Given the description of an element on the screen output the (x, y) to click on. 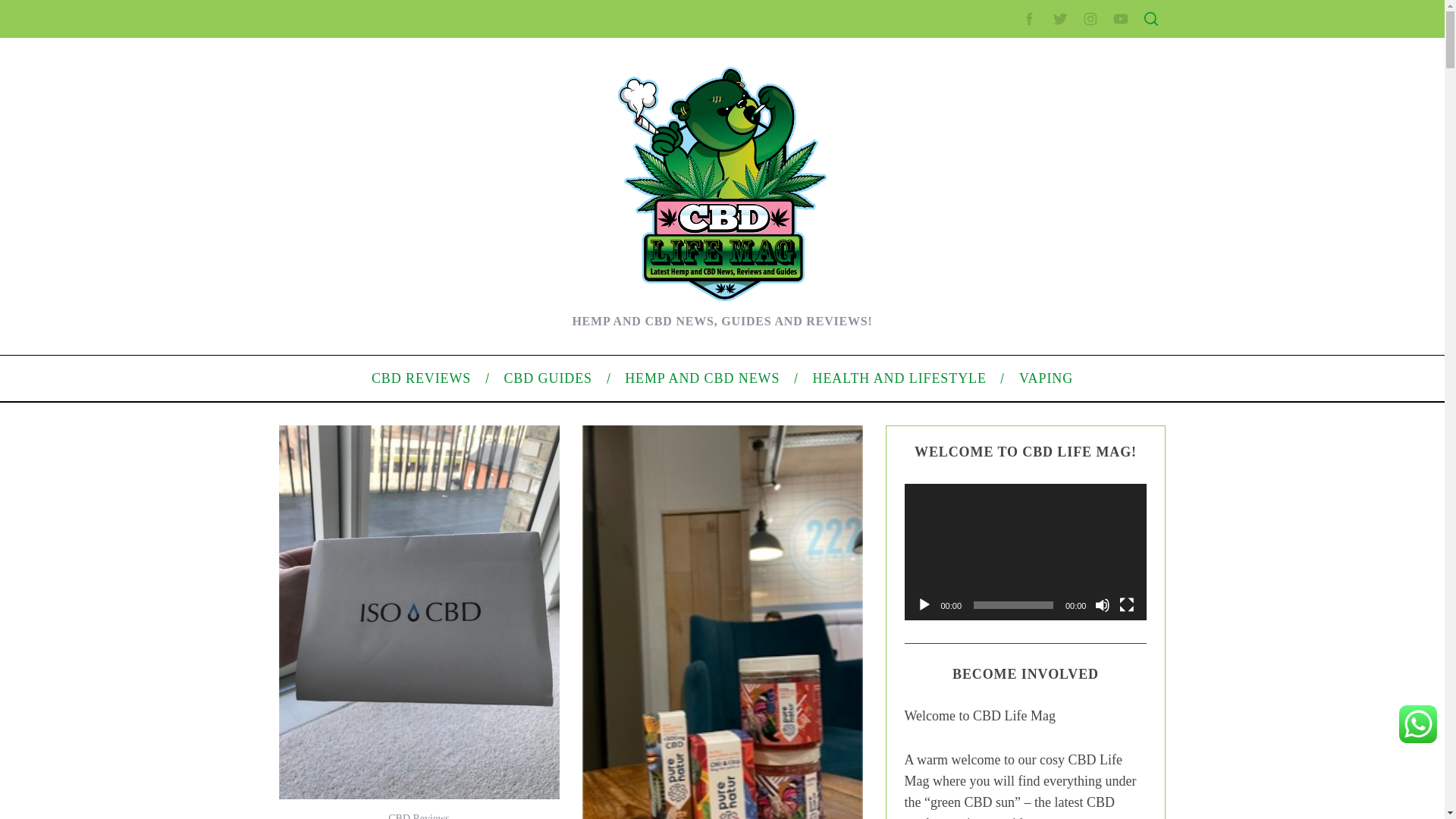
ADMINISTRATOR (417, 81)
Customer Reviews (365, 322)
The Dark Yorkshire Series: Books 4 To 6 (416, 250)
DMCA Policy (996, 282)
Joy Online (346, 467)
Blog (976, 510)
Search (1050, 85)
Terms of Use (996, 330)
Joy On Demand: The Art Of Discovering The Happiness Within (469, 273)
Privacy Policy (999, 306)
Search (1050, 85)
CUPCAKEDELIGHTS.CO.UK (433, 28)
Skip to content (34, 9)
Search (1050, 85)
